Given the description of an element on the screen output the (x, y) to click on. 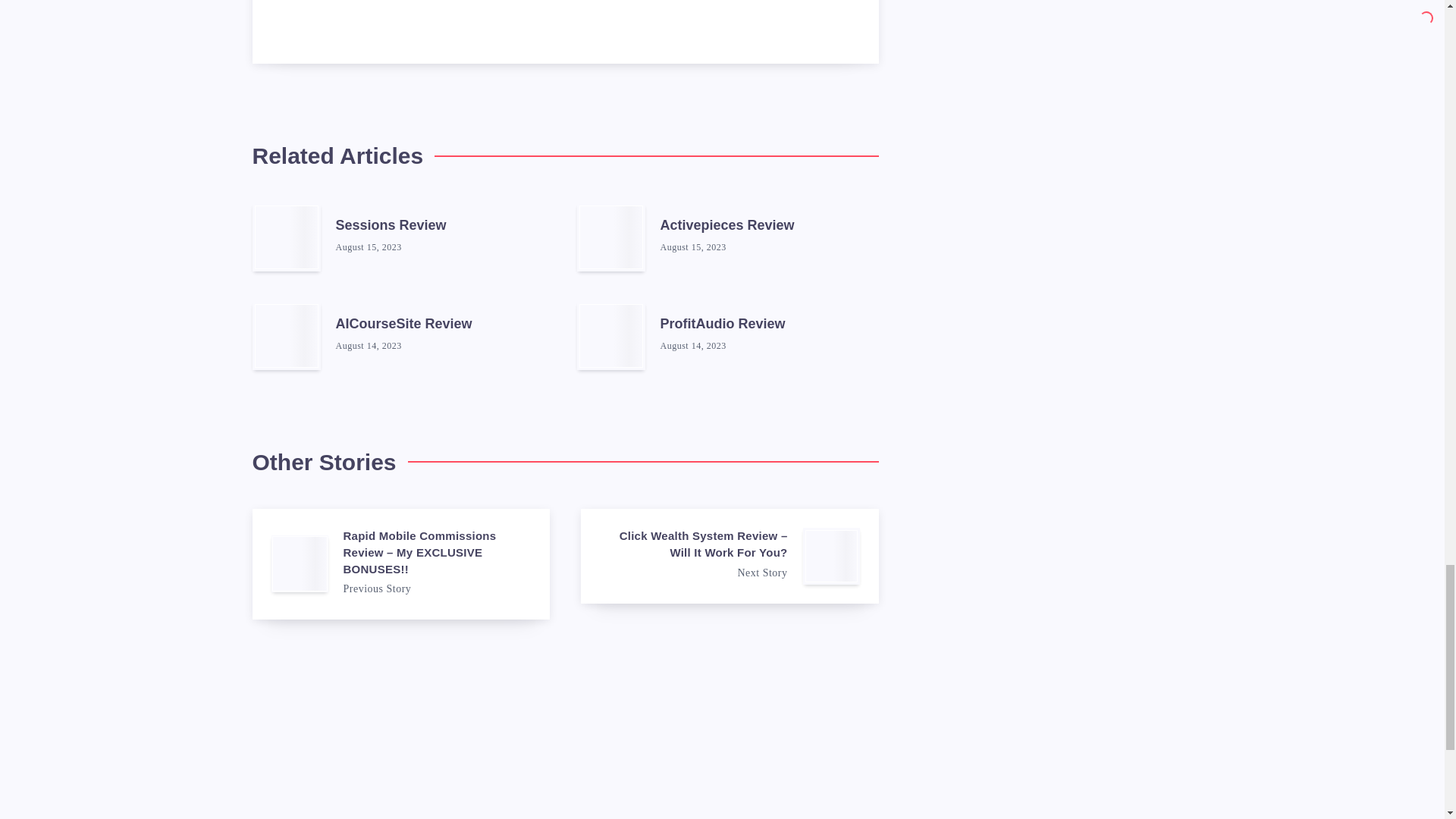
ProfitAudio Review (721, 325)
Advertisement (721, 757)
AICourseSite Review (402, 325)
Sessions Review (389, 226)
Activepieces Review (726, 226)
